Given the description of an element on the screen output the (x, y) to click on. 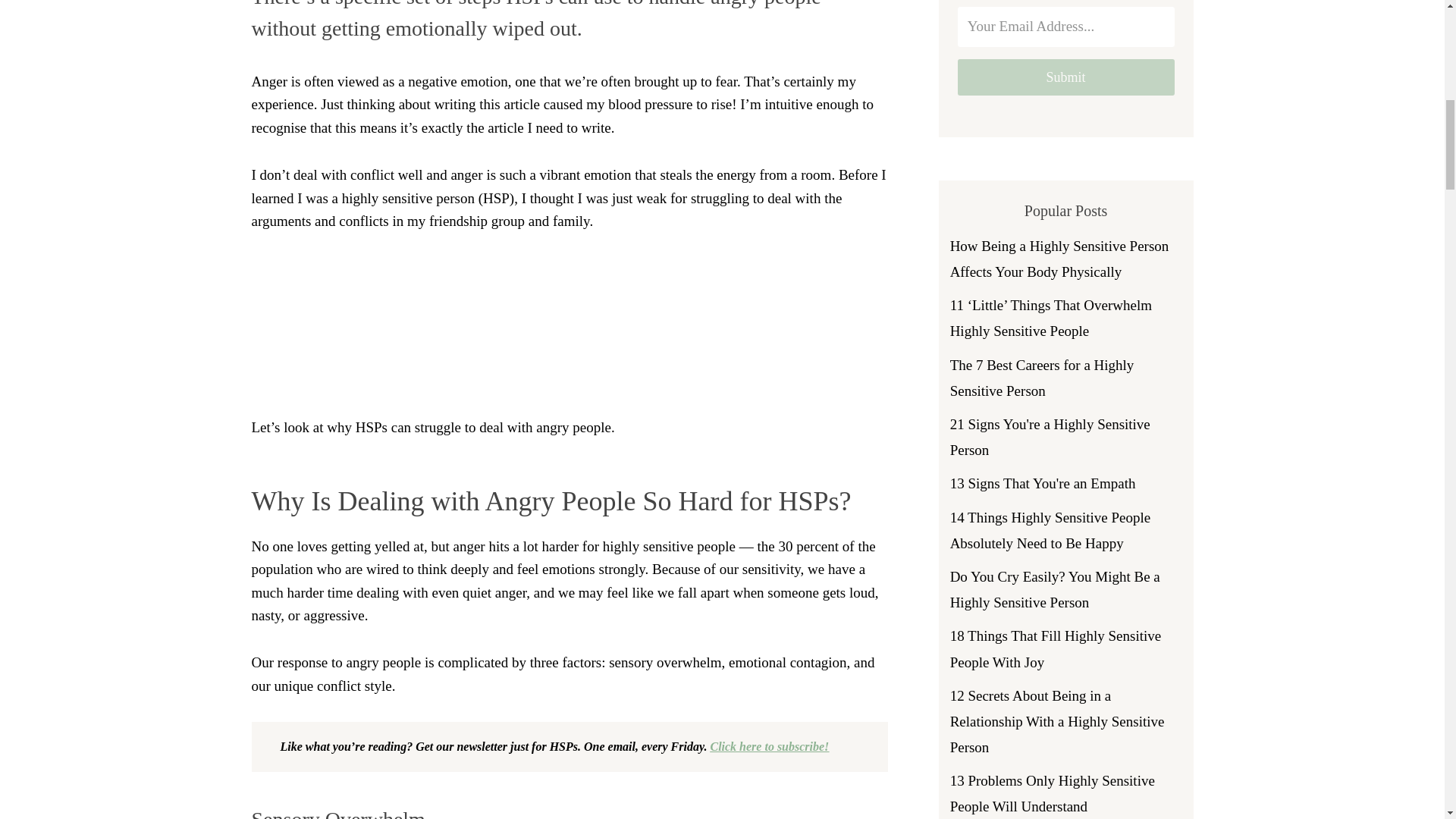
Click here to subscribe! (769, 746)
